Given the description of an element on the screen output the (x, y) to click on. 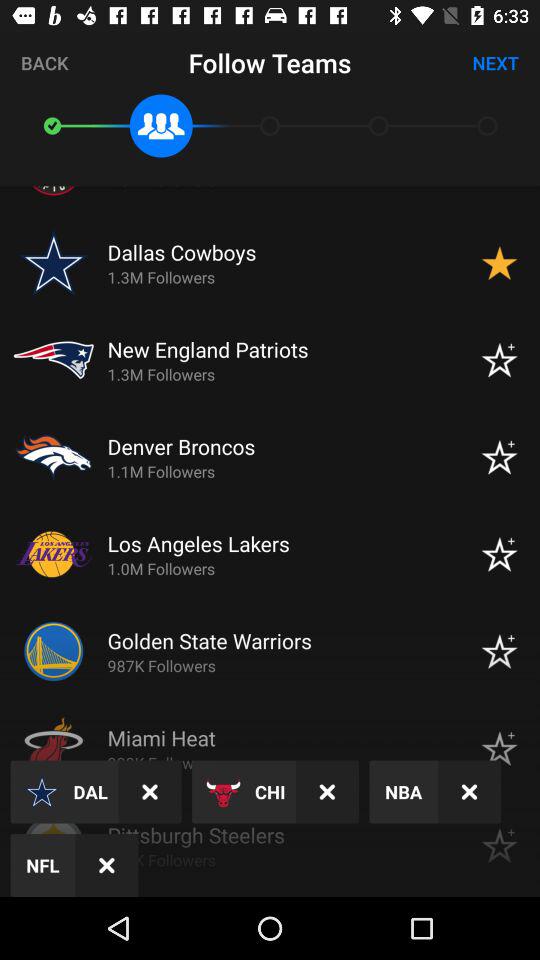
click on the star symbol which is on the right of dallas cowboys (499, 262)
go to cross symbol beside chi (327, 792)
select x button which is after nba on page (469, 792)
go to the start beside sixth option (499, 651)
select the icon which is left to chi (224, 791)
